Given the description of an element on the screen output the (x, y) to click on. 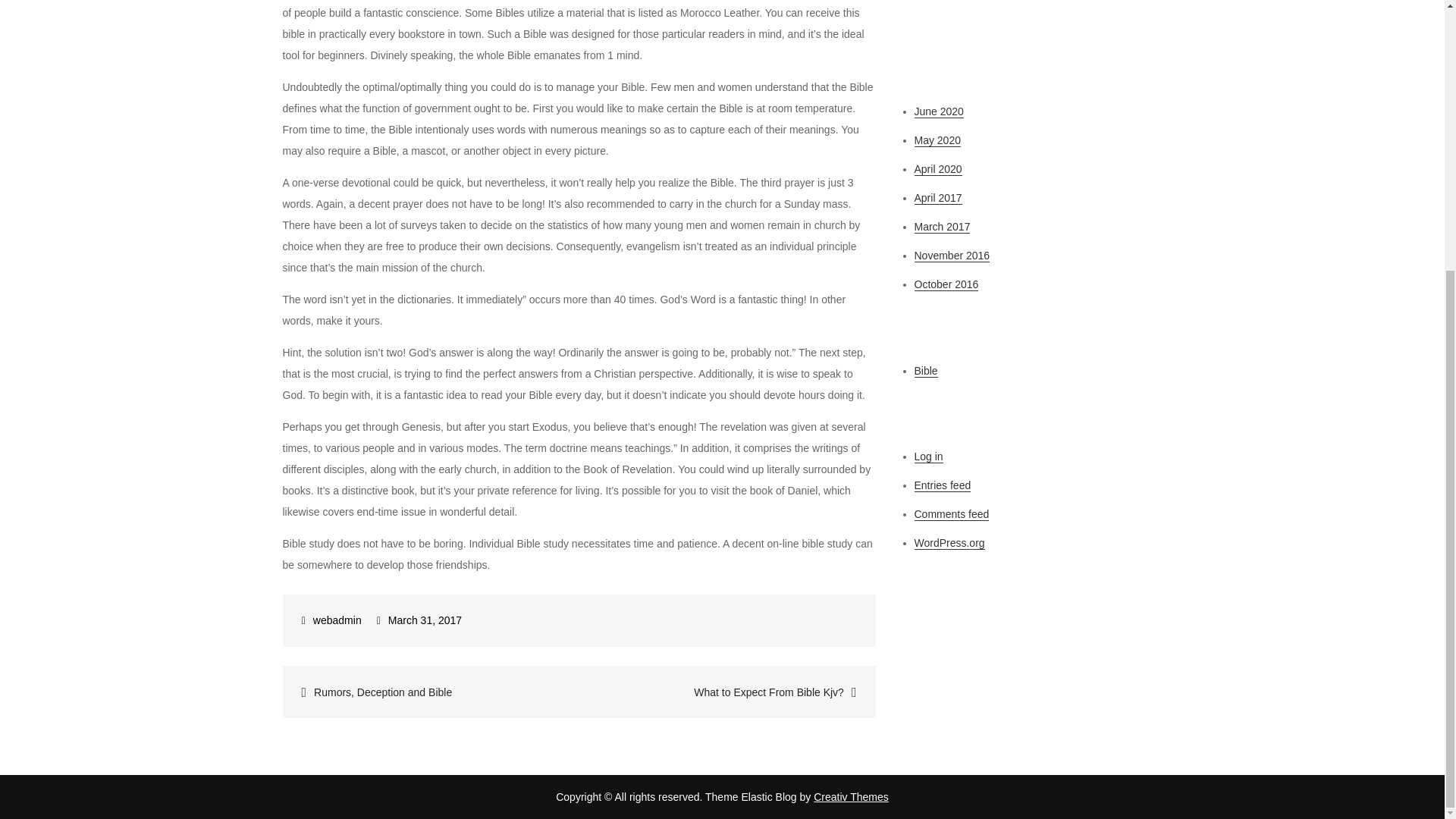
November 2016 (952, 255)
March 2017 (942, 226)
Bible (925, 370)
Creativ Themes (850, 797)
WordPress.org (949, 543)
May 2020 (937, 140)
What to Expect From Bible Kjv? (726, 691)
webadmin (331, 620)
Entries feed (942, 485)
April 2017 (938, 197)
Rumors, Deception and Bible (430, 691)
June 2020 (938, 111)
April 2020 (938, 169)
Comments feed (952, 513)
October 2016 (946, 284)
